Given the description of an element on the screen output the (x, y) to click on. 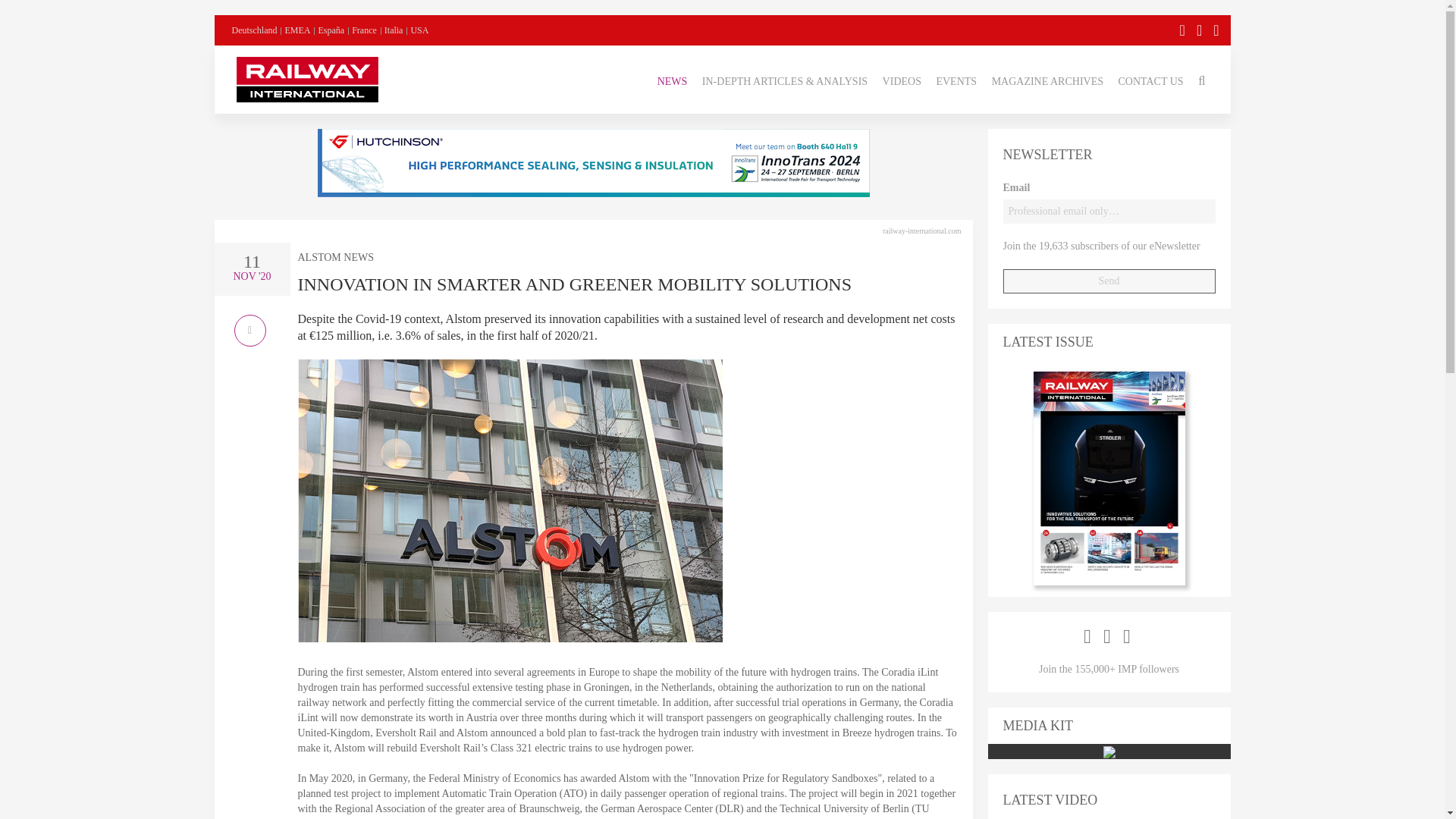
France (364, 29)
CONTACT US (1150, 79)
Send (1108, 281)
EMEA (296, 29)
NEWS (672, 79)
VIDEOS (901, 79)
EVENTS (956, 79)
MAGAZINE ARCHIVES (1047, 79)
Italia (393, 29)
USA (419, 29)
